Given the description of an element on the screen output the (x, y) to click on. 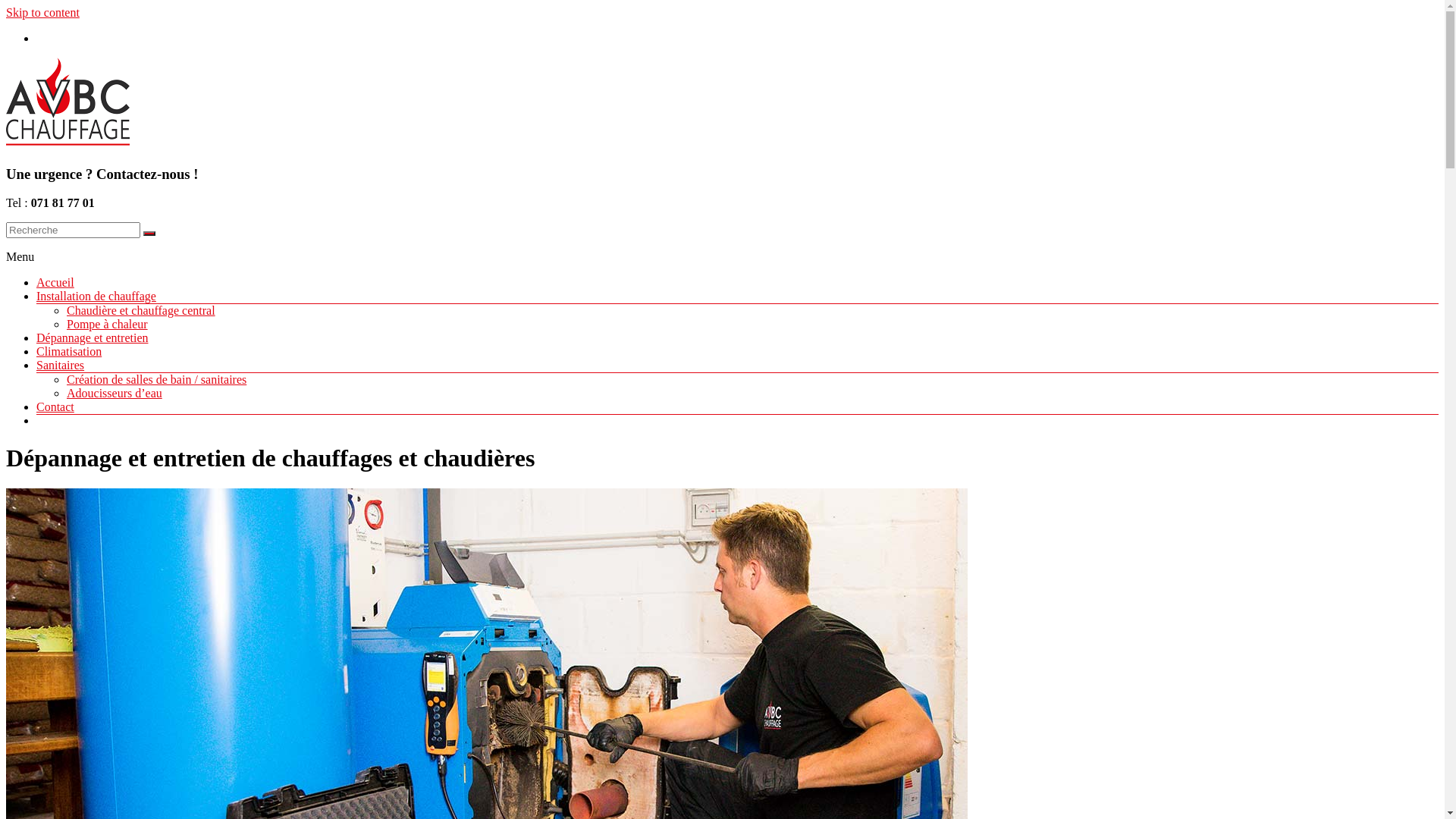
Accueil Element type: text (55, 282)
Sanitaires Element type: text (60, 364)
Skip to content Element type: text (42, 12)
Climatisation Element type: text (68, 351)
AVBC Chauffage Element type: text (58, 174)
Installation de chauffage Element type: text (96, 295)
Contact Element type: text (55, 406)
